Given the description of an element on the screen output the (x, y) to click on. 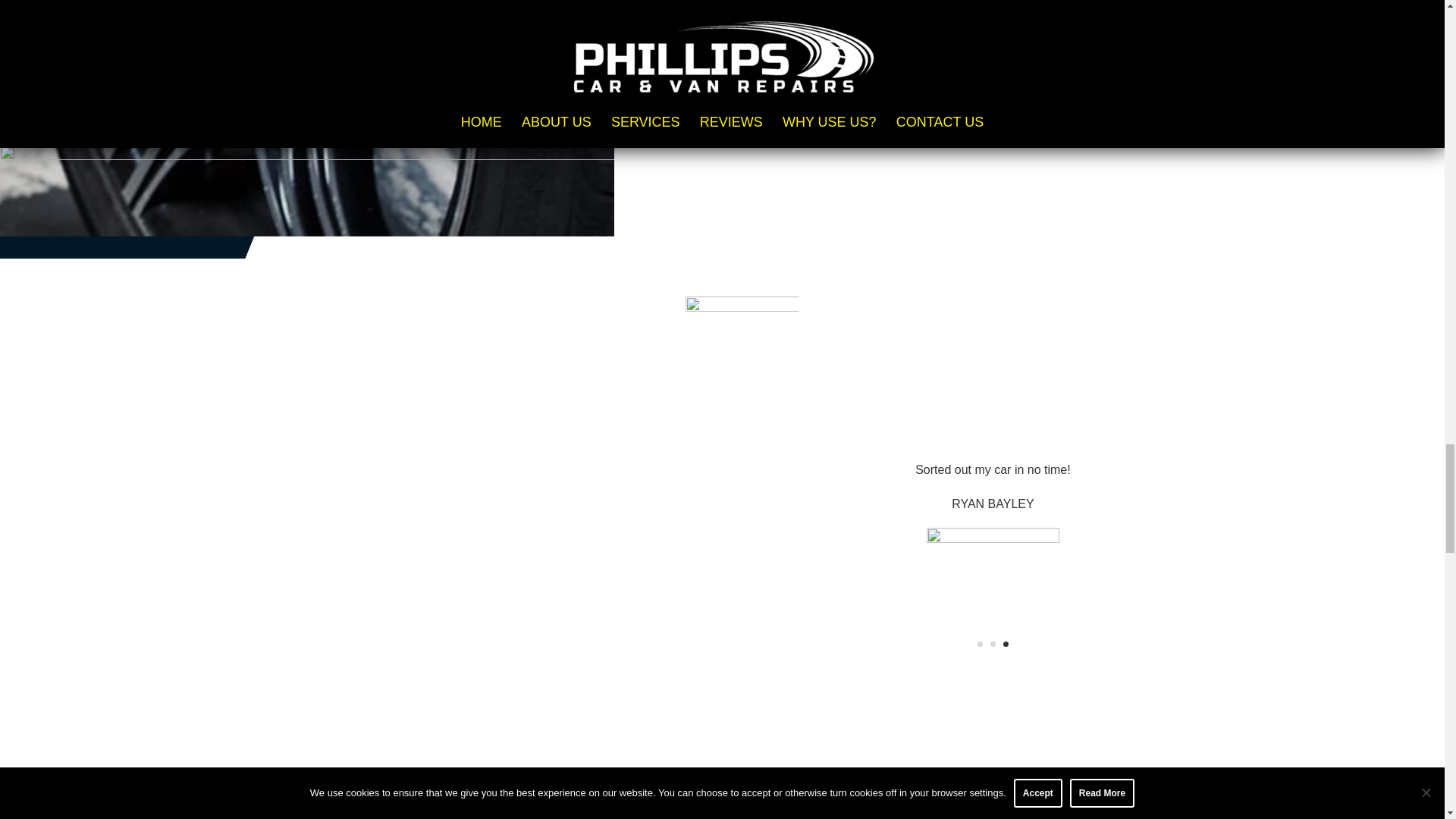
2 (992, 644)
1 (979, 644)
3 (1006, 644)
